Given the description of an element on the screen output the (x, y) to click on. 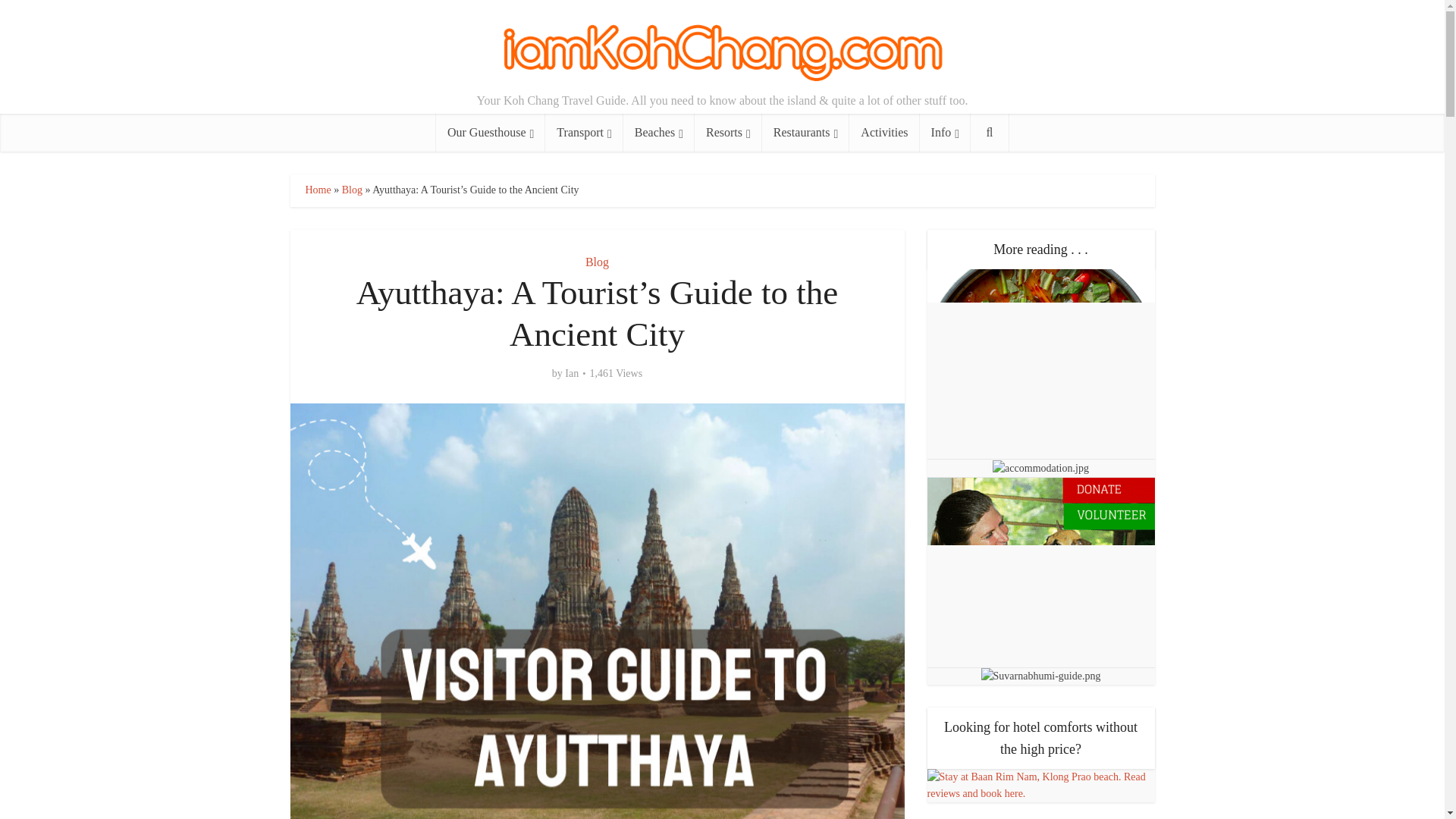
Resorts (727, 132)
Our Guesthouse (489, 132)
Beaches (658, 132)
Transport (583, 132)
